Given the description of an element on the screen output the (x, y) to click on. 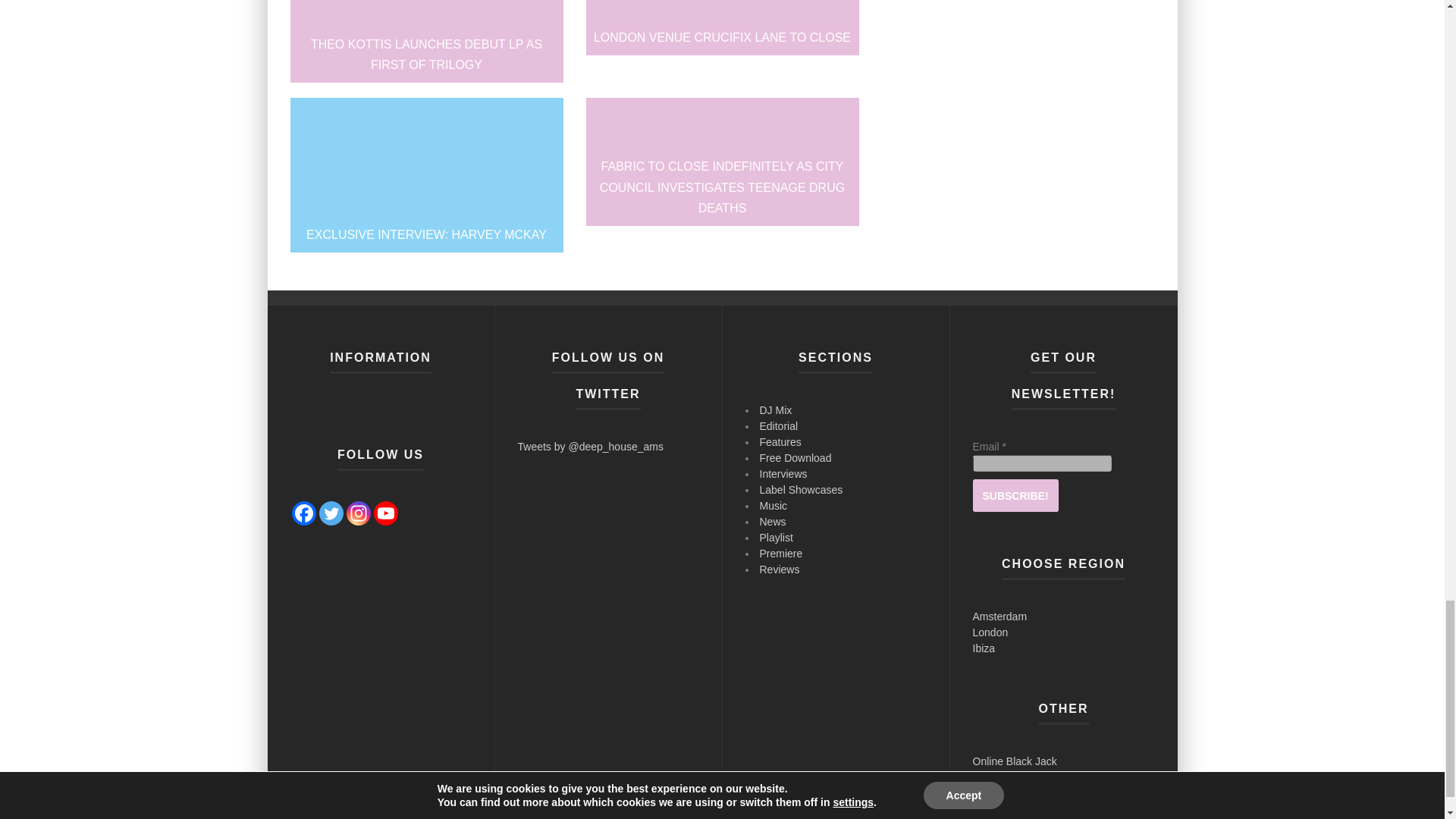
Twitter (330, 513)
Instagram (357, 513)
Youtube (384, 513)
Facebook (303, 513)
